Given the description of an element on the screen output the (x, y) to click on. 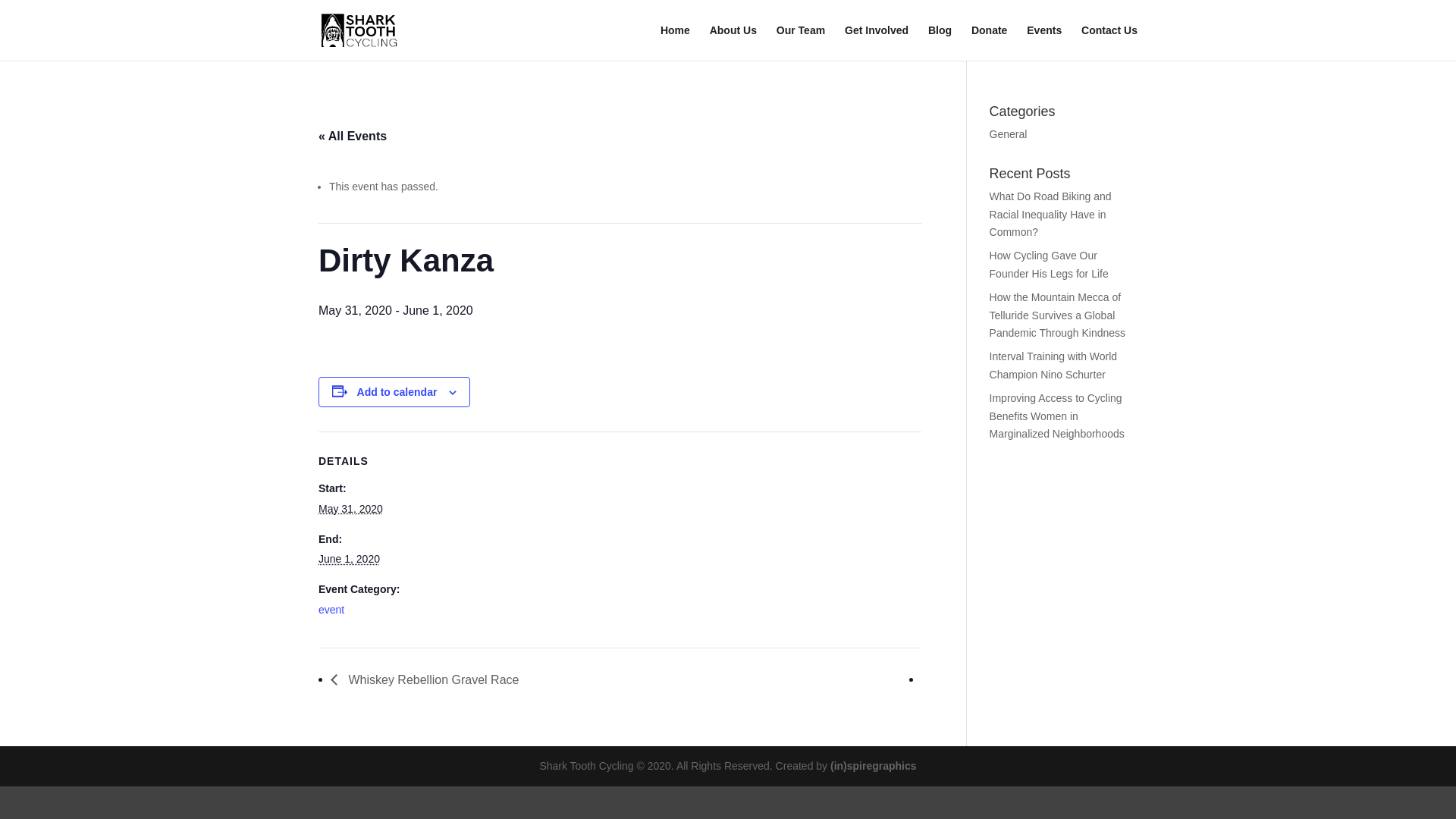
About Us (733, 42)
Whiskey Rebellion Gravel Race (428, 679)
Interval Training with World Champion Nino Schurter (1054, 365)
event (330, 609)
Our Team (800, 42)
Contact Us (1109, 42)
Get Involved (876, 42)
Events (1043, 42)
